Given the description of an element on the screen output the (x, y) to click on. 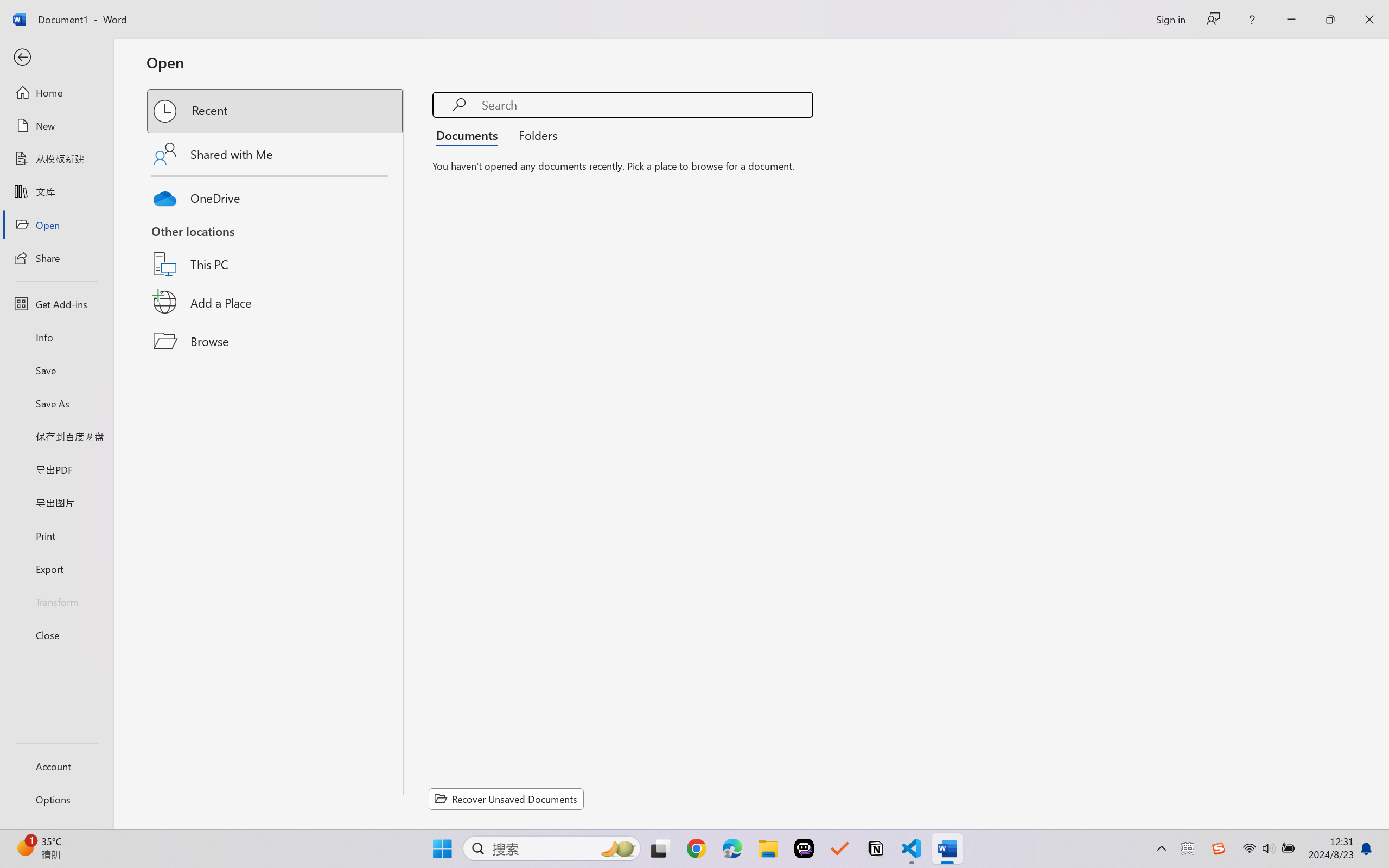
Documents (469, 134)
Save As (56, 403)
Recent (275, 110)
Back (56, 57)
Options (56, 798)
